Given the description of an element on the screen output the (x, y) to click on. 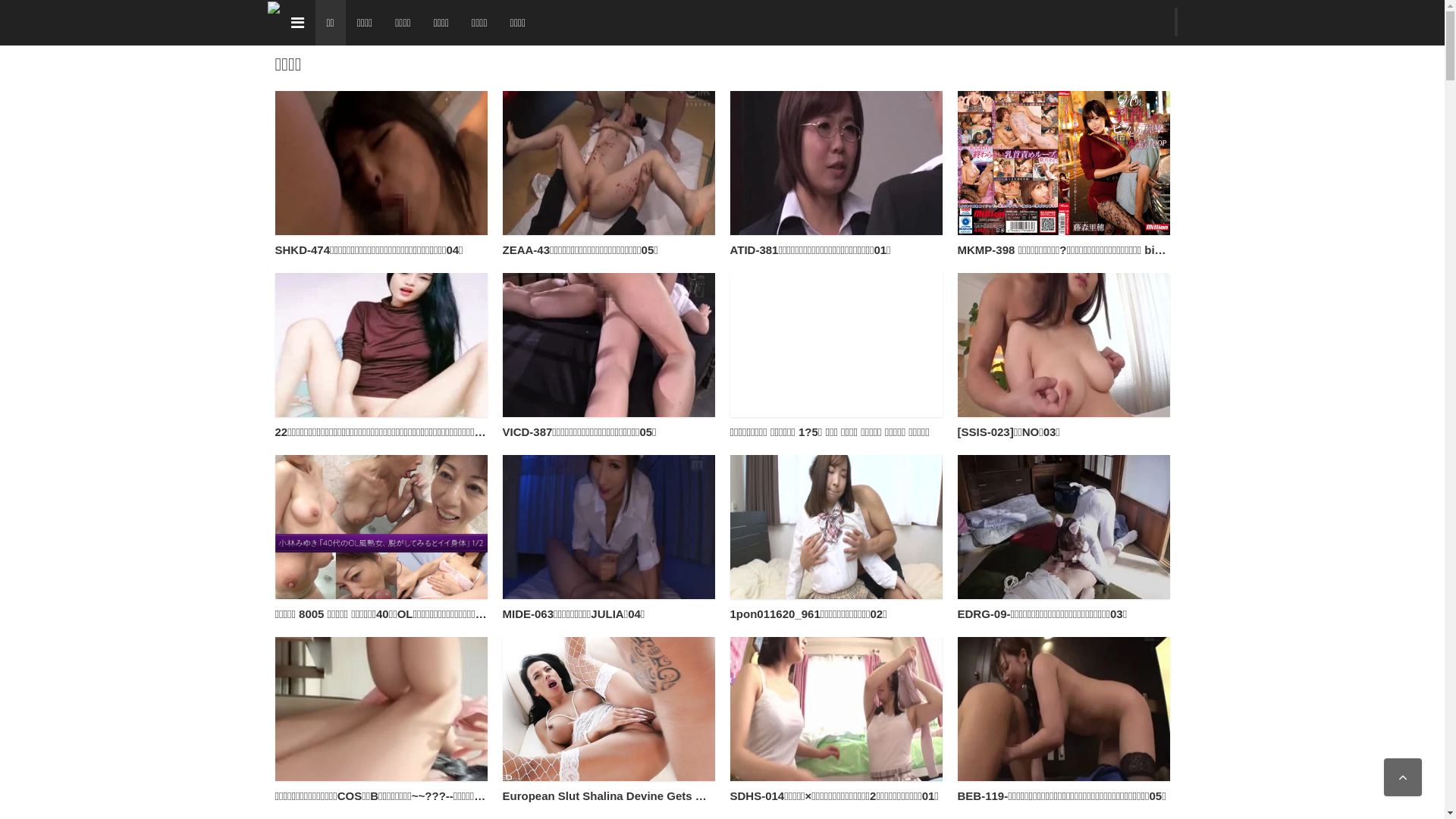
European Slut Shalina Devine Gets Her Ass Drilled Hard Element type: text (653, 795)
European Slut Shalina Devine Gets Her Ass Drilled Hard Element type: hover (608, 709)
